Given the description of an element on the screen output the (x, y) to click on. 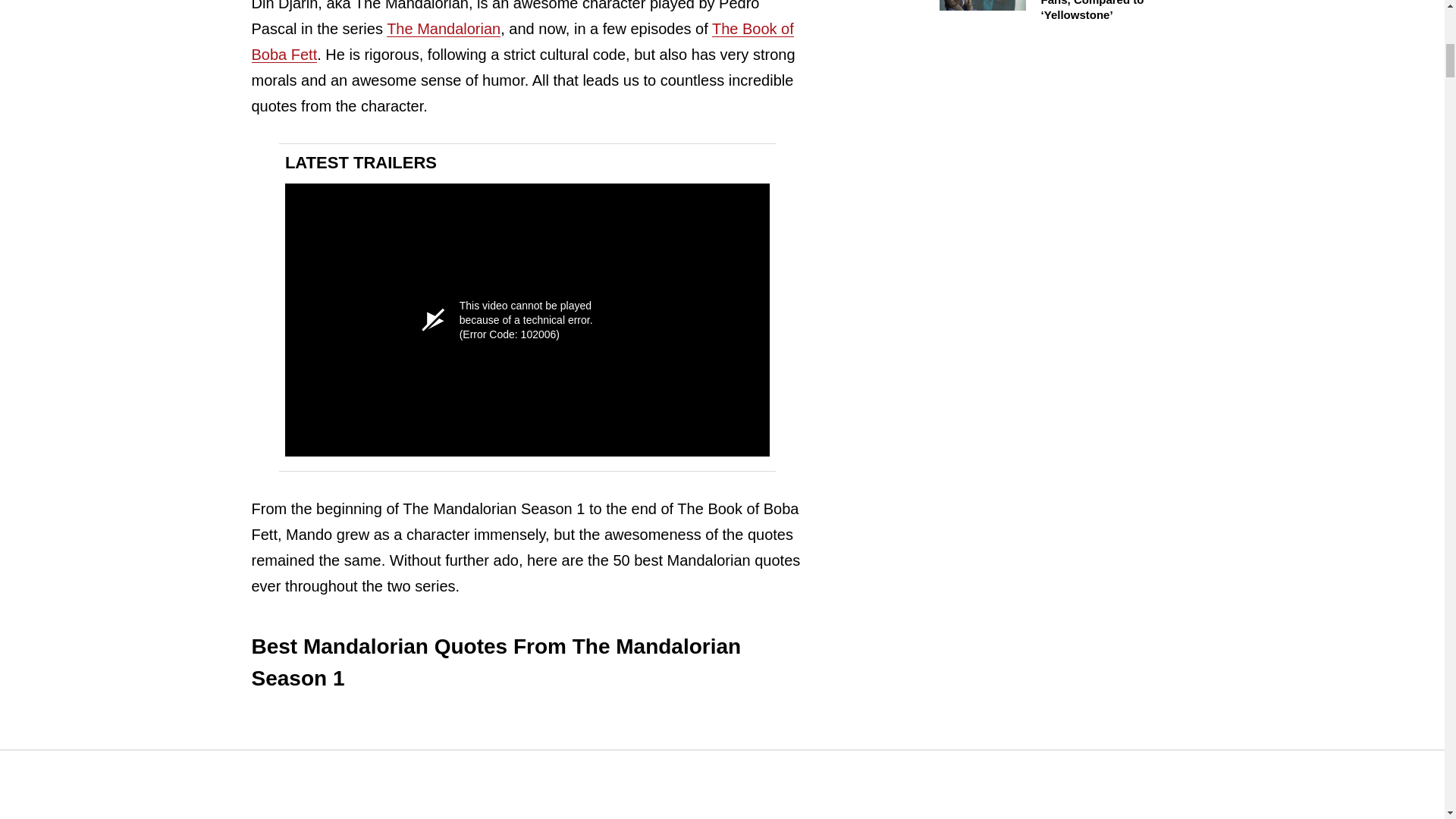
The Mandalorian (443, 28)
